Given the description of an element on the screen output the (x, y) to click on. 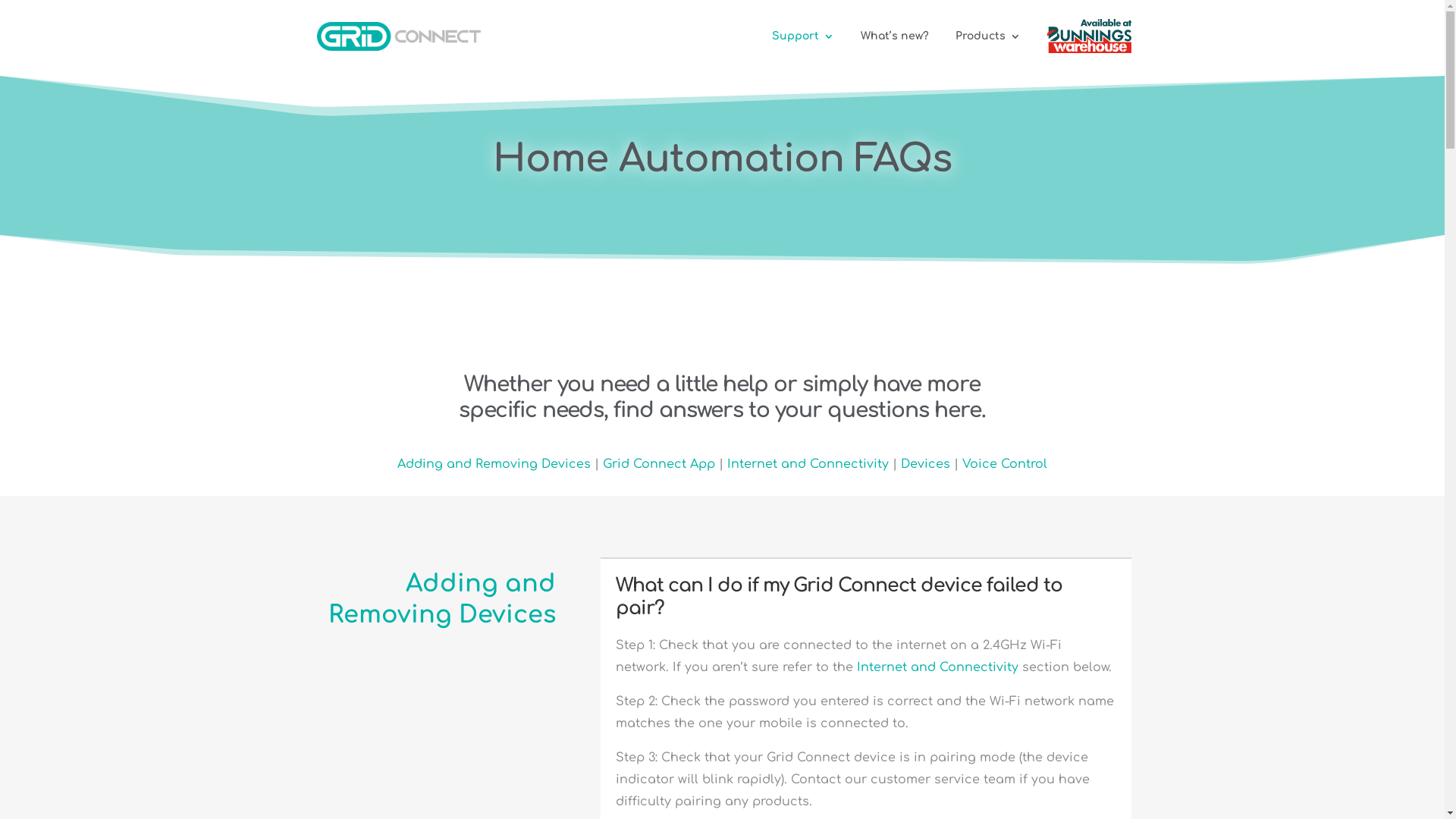
Internet and Connectivity Element type: text (807, 463)
Voice Control Element type: text (1004, 463)
Devices Element type: text (925, 463)
Support Element type: text (802, 44)
Adding and Removing Devices Element type: text (493, 463)
Grid Connect App Element type: text (658, 463)
Products Element type: text (987, 44)
Internet and Connectivity Element type: text (937, 667)
